Given the description of an element on the screen output the (x, y) to click on. 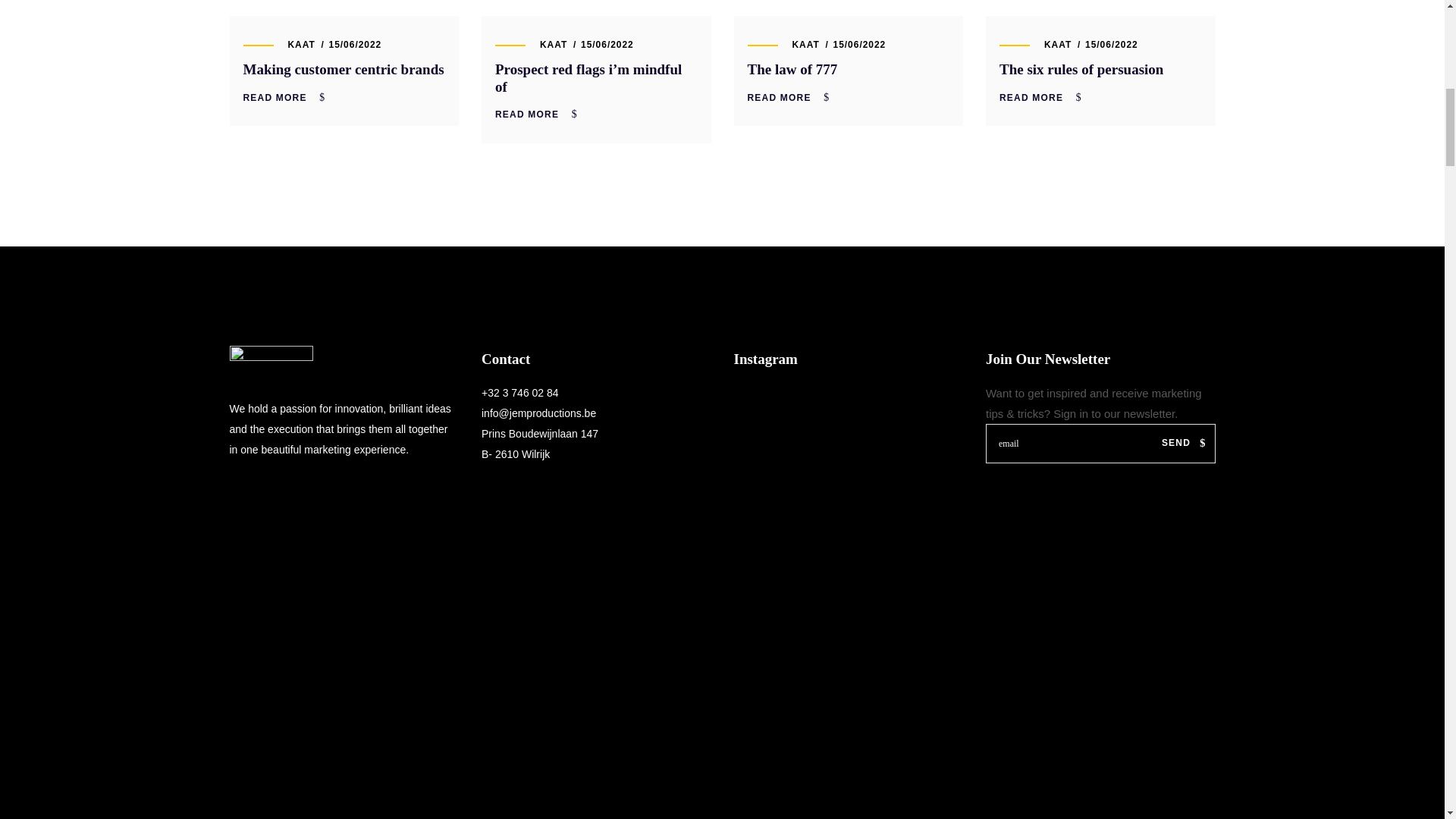
The law of 777 (793, 68)
The six rules of persuasion (1080, 68)
Making customer centric brands (343, 68)
